Given the description of an element on the screen output the (x, y) to click on. 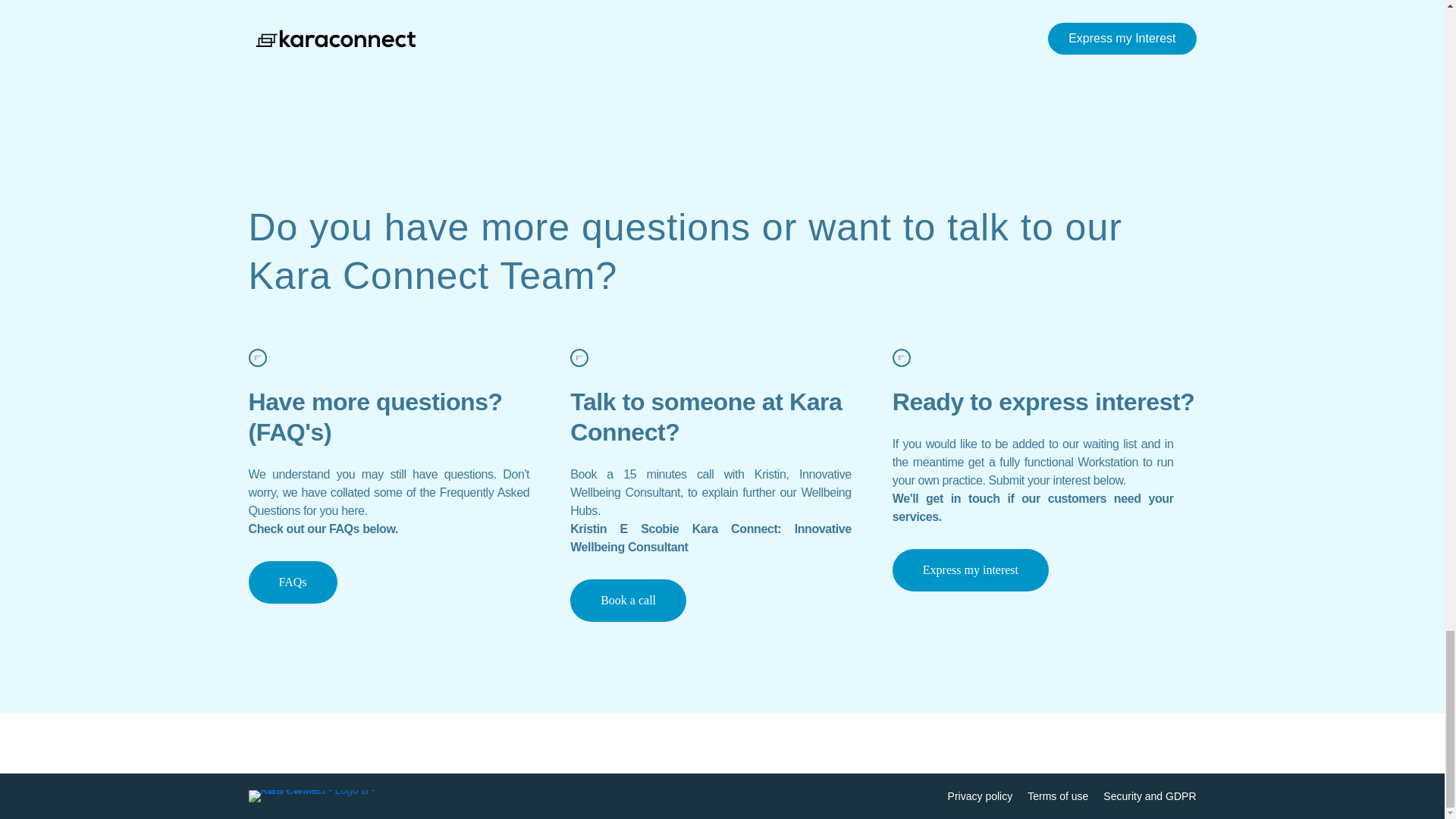
Book a call (627, 600)
Security and GDPR (1149, 796)
Terms of use (1057, 796)
FAQs (292, 582)
Express my interest (970, 569)
Privacy policy (980, 796)
Express my interest (326, 10)
